Given the description of an element on the screen output the (x, y) to click on. 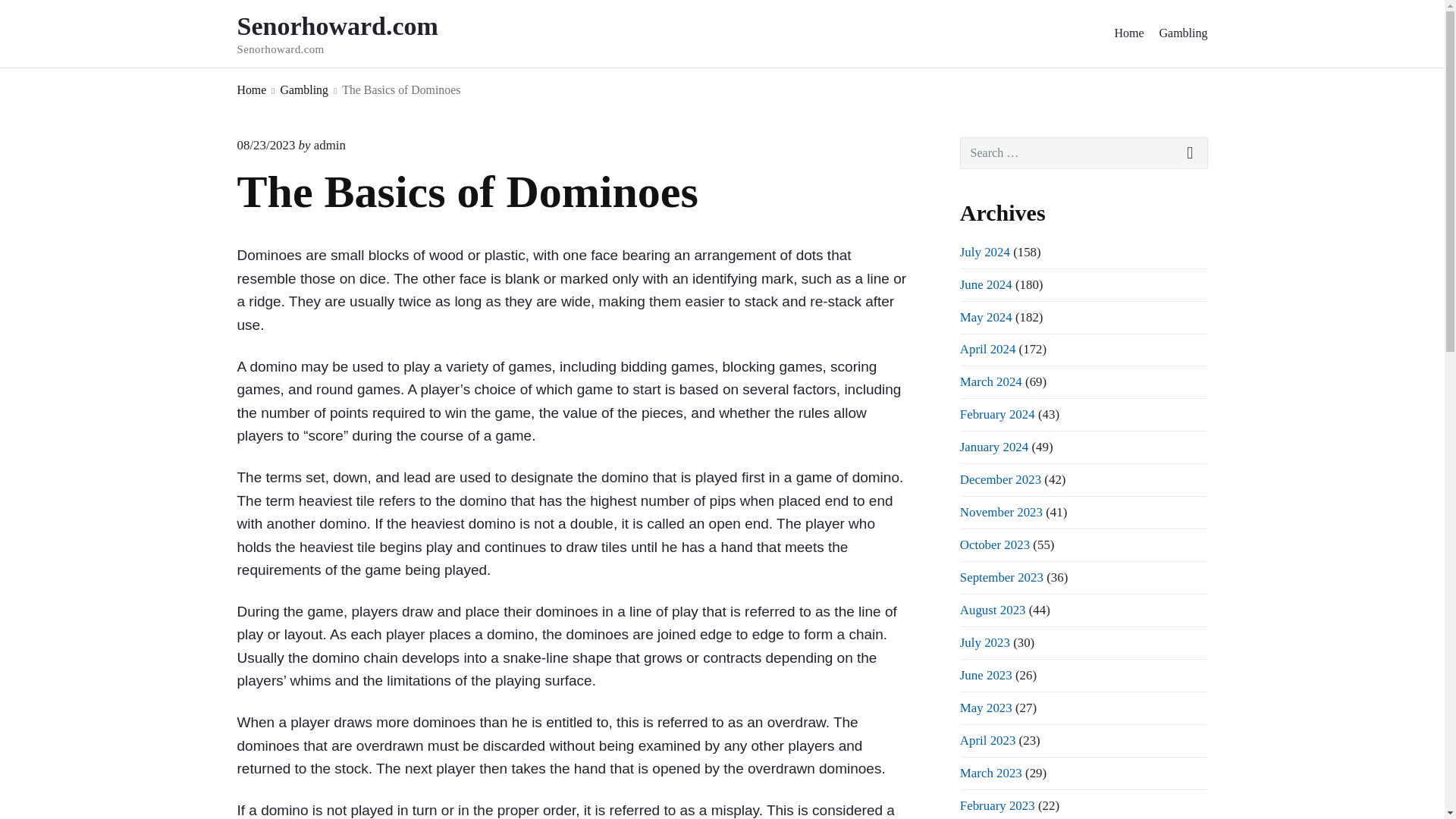
April 2023 (987, 740)
February 2023 (997, 805)
Search for: (1083, 152)
January 2024 (993, 446)
September 2023 (1001, 577)
Gambling (305, 89)
May 2024 (985, 317)
December 2023 (1000, 479)
Home (250, 89)
November 2023 (1000, 512)
July 2024 (984, 251)
May 2023 (985, 707)
March 2024 (990, 381)
Home (1127, 32)
July 2023 (984, 642)
